Given the description of an element on the screen output the (x, y) to click on. 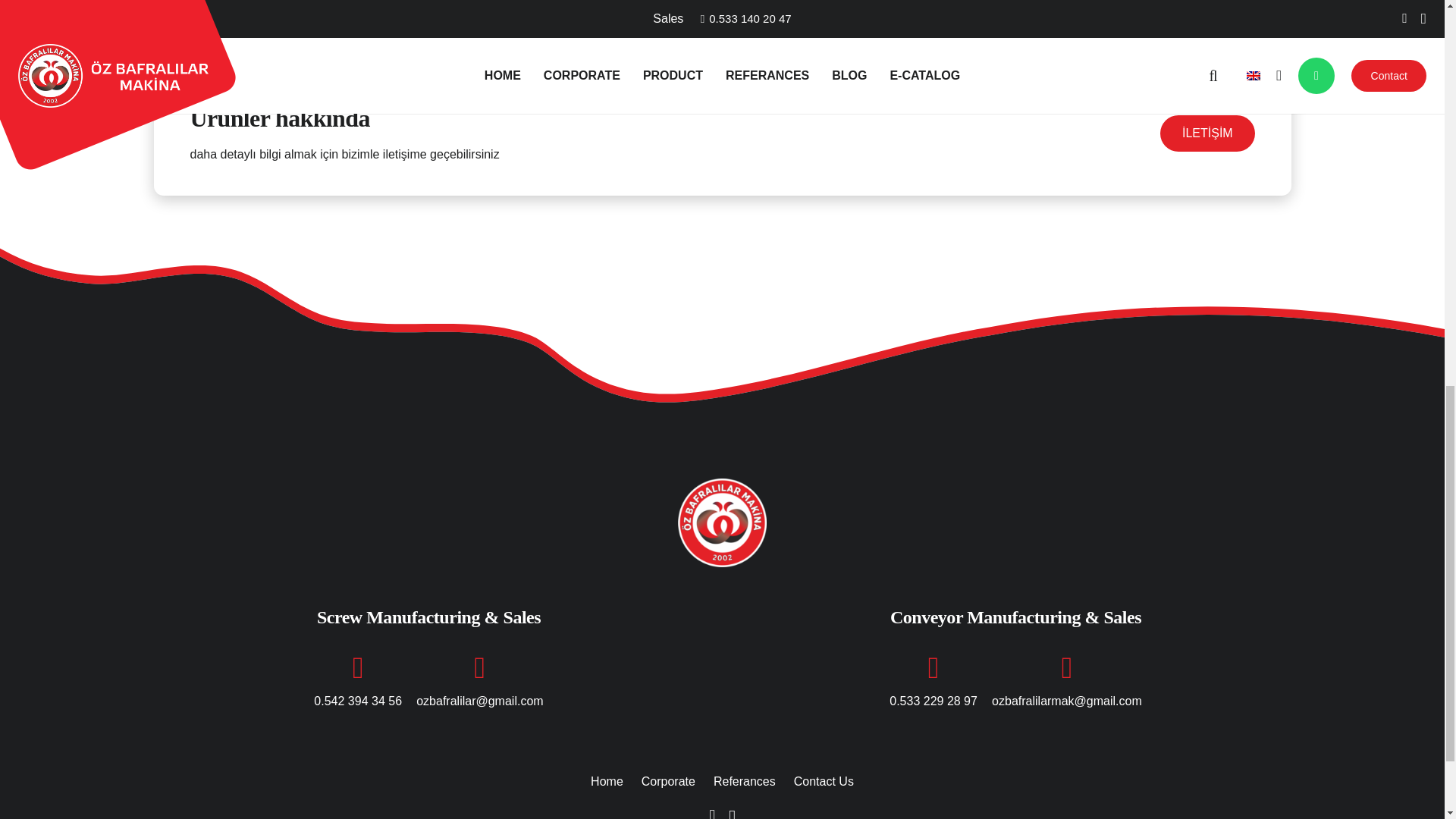
Share this (794, 21)
Share this (830, 21)
Corporate (668, 780)
Back to top (1413, 26)
Contact Us (823, 780)
Tweet this (684, 21)
Share this (721, 21)
Referances (744, 780)
0.533 229 28 97 (932, 701)
Home (607, 780)
Email this (612, 21)
0.542 394 34 56 (357, 701)
Pin this (757, 21)
Share this (648, 21)
